Given the description of an element on the screen output the (x, y) to click on. 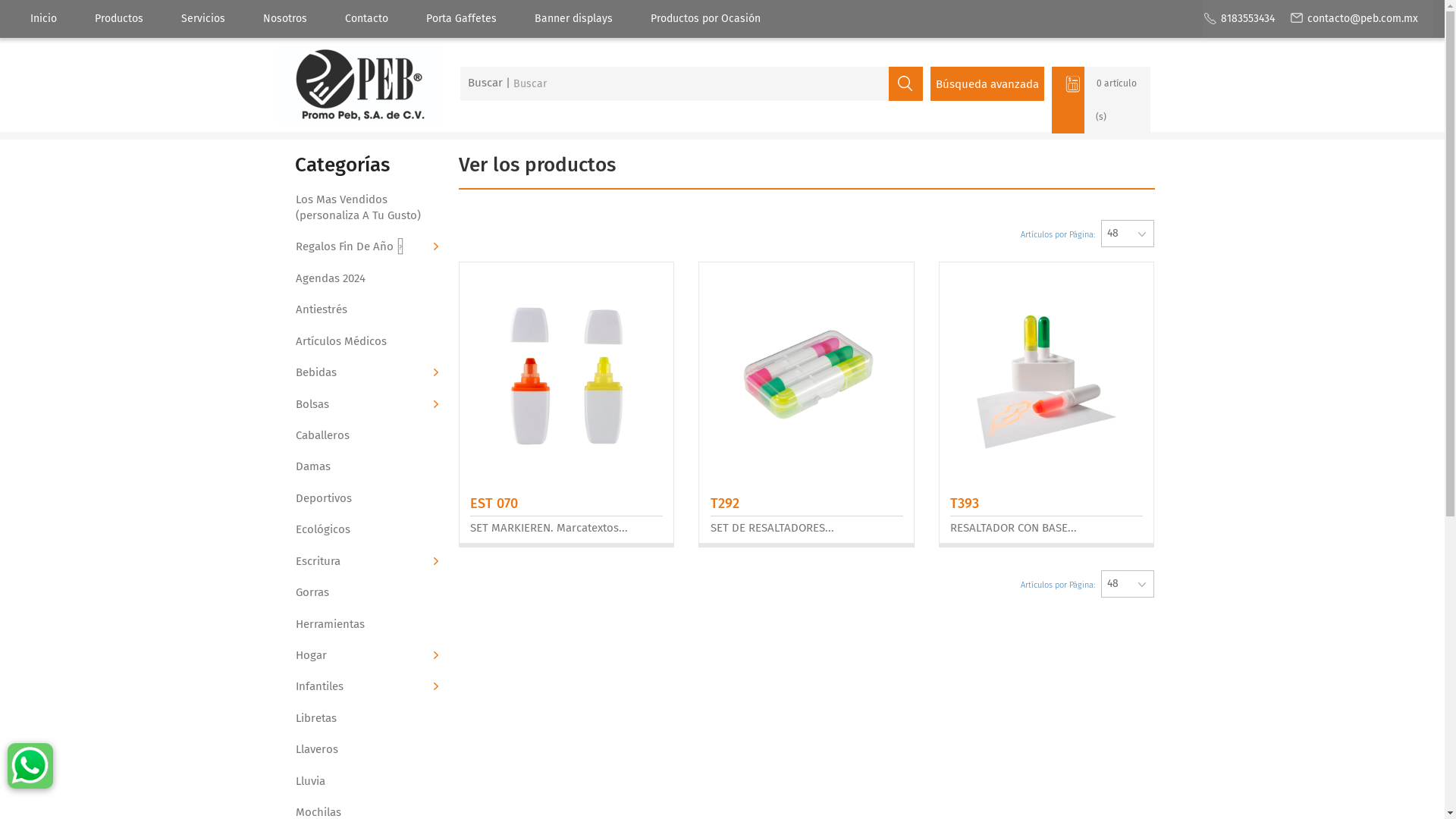
contacto@peb.com.mx Element type: text (1353, 18)
Porta Gaffetes Element type: text (461, 18)
Servicios Element type: text (203, 18)
Agendas 2024 Element type: text (363, 278)
Contacto Element type: text (366, 18)
Llaveros Element type: text (363, 749)
Libretas Element type: text (363, 718)
Lluvia Element type: text (363, 781)
Bebidas Element type: text (363, 372)
Caballeros Element type: text (363, 435)
Escritura Element type: text (363, 561)
Deportivos Element type: text (363, 498)
Los Mas Vendidos (personaliza A Tu Gusto) Element type: text (363, 208)
8183553434 Element type: text (1238, 18)
Hogar Element type: text (363, 655)
Nosotros Element type: text (285, 18)
Banner displays Element type: text (573, 18)
Herramientas Element type: text (363, 624)
Damas Element type: text (363, 466)
Bolsas Element type: text (363, 404)
Inicio Element type: text (43, 18)
Productos Element type: text (118, 18)
Infantiles Element type: text (363, 686)
Gorras Element type: text (363, 592)
